Given the description of an element on the screen output the (x, y) to click on. 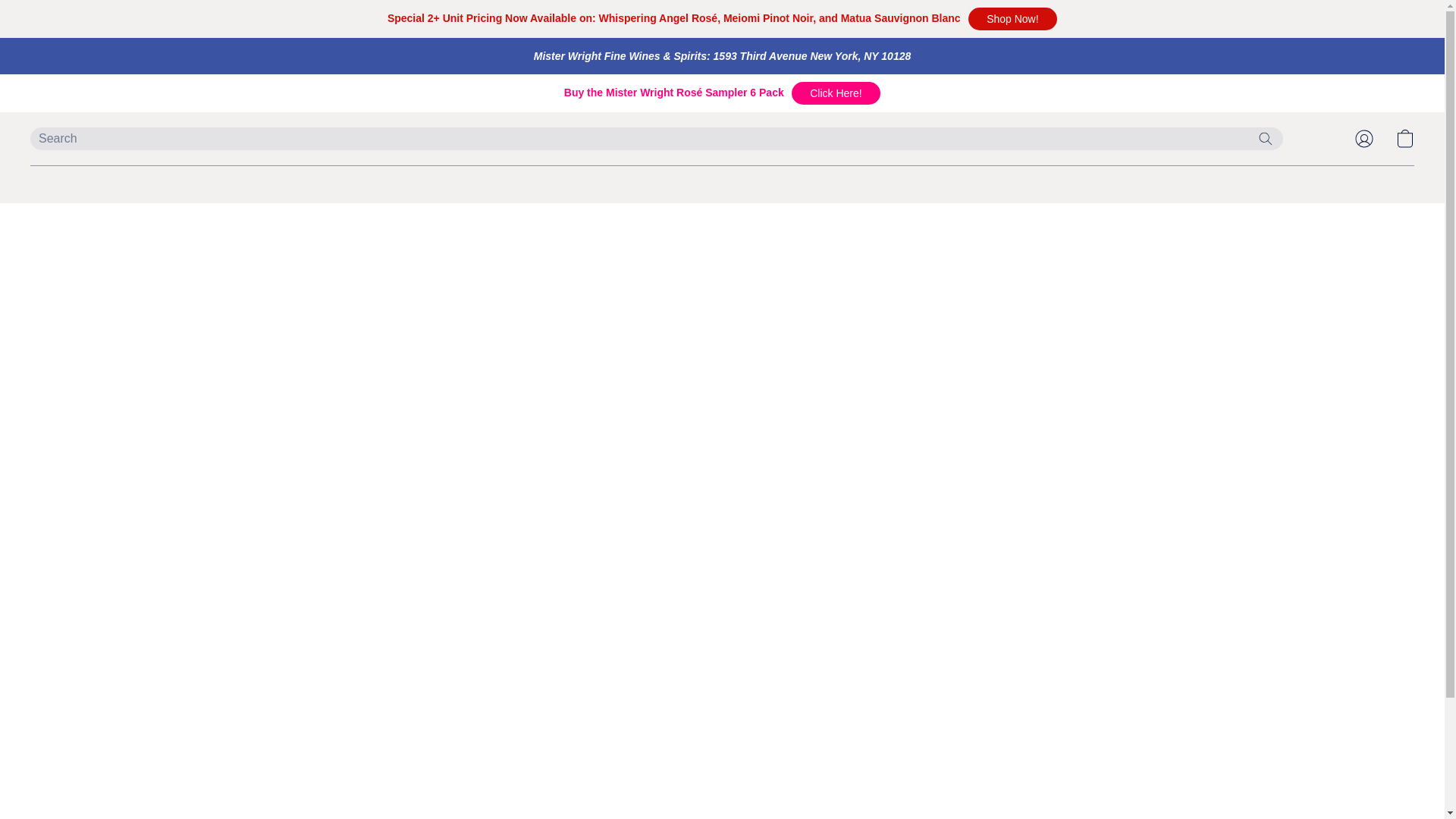
Shop Now! (1012, 18)
Click Here! (836, 92)
Go to your shopping cart (1404, 138)
